Given the description of an element on the screen output the (x, y) to click on. 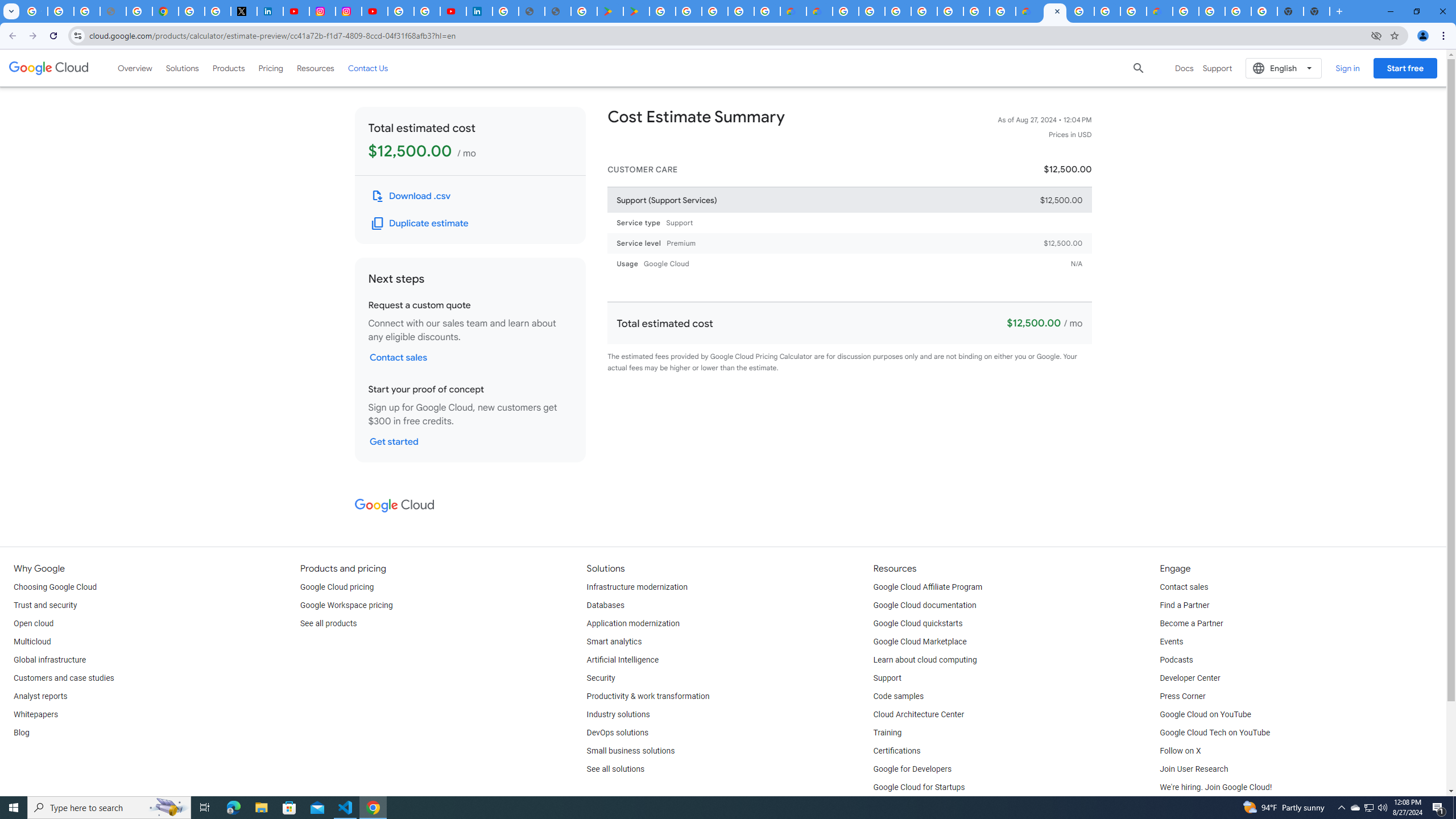
Productivity & work transformation (648, 696)
Docs (1183, 67)
Google Cloud Estimate Summary (1054, 11)
Contact Us (368, 67)
Sign in - Google Accounts (191, 11)
Google Workspace pricing (346, 605)
Training (887, 732)
Duplicate this estimate (420, 223)
Pricing (270, 67)
Learn about cloud computing (924, 660)
